Given the description of an element on the screen output the (x, y) to click on. 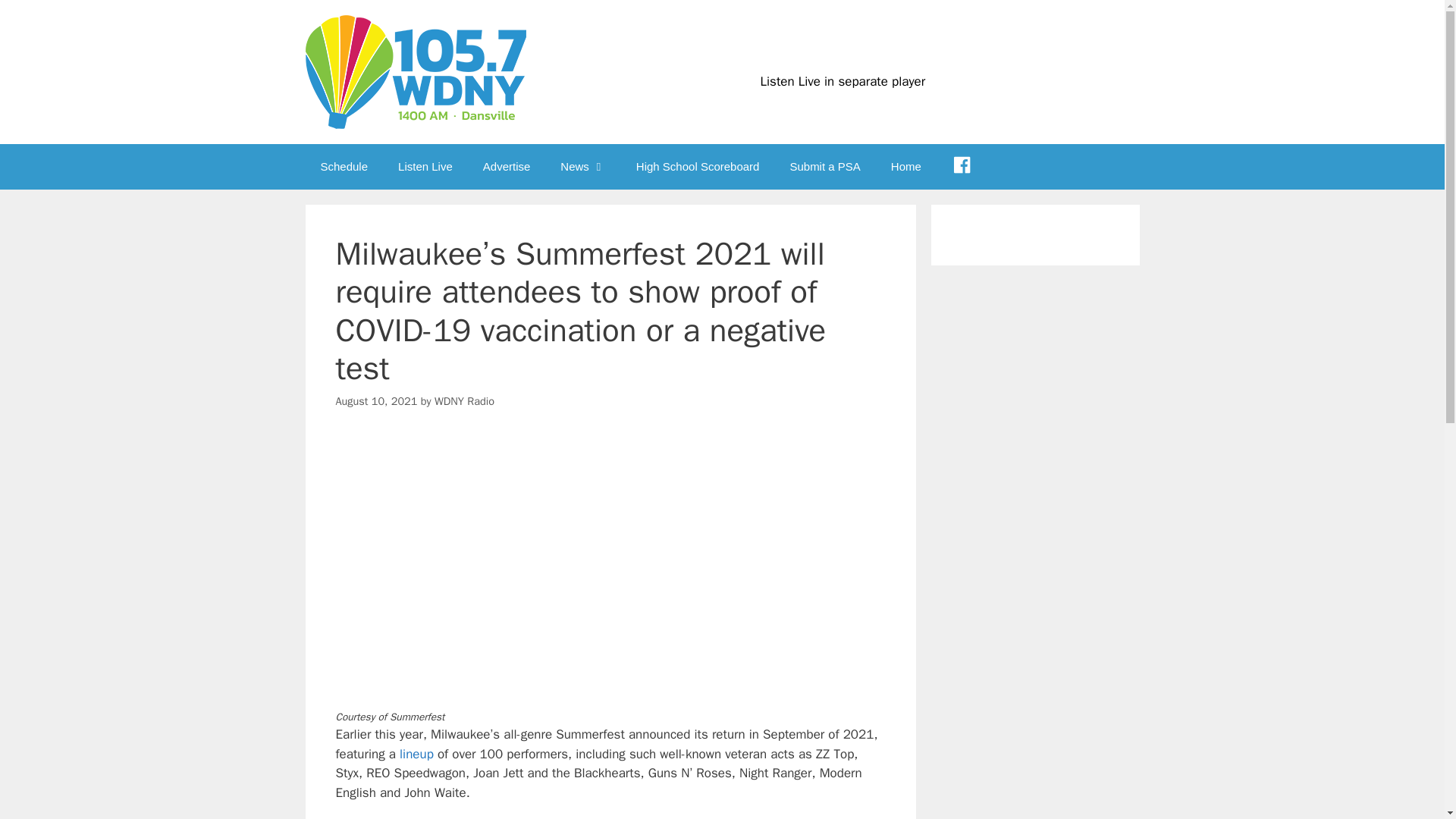
Menu Item (961, 166)
WDNY Radio (464, 400)
High School Scoreboard (697, 166)
Advertise (506, 166)
Schedule (343, 166)
Listen Live (424, 166)
View all posts by WDNY Radio (464, 400)
Home (906, 166)
Submit a PSA (824, 166)
Listen Live in separate player (842, 81)
